Given the description of an element on the screen output the (x, y) to click on. 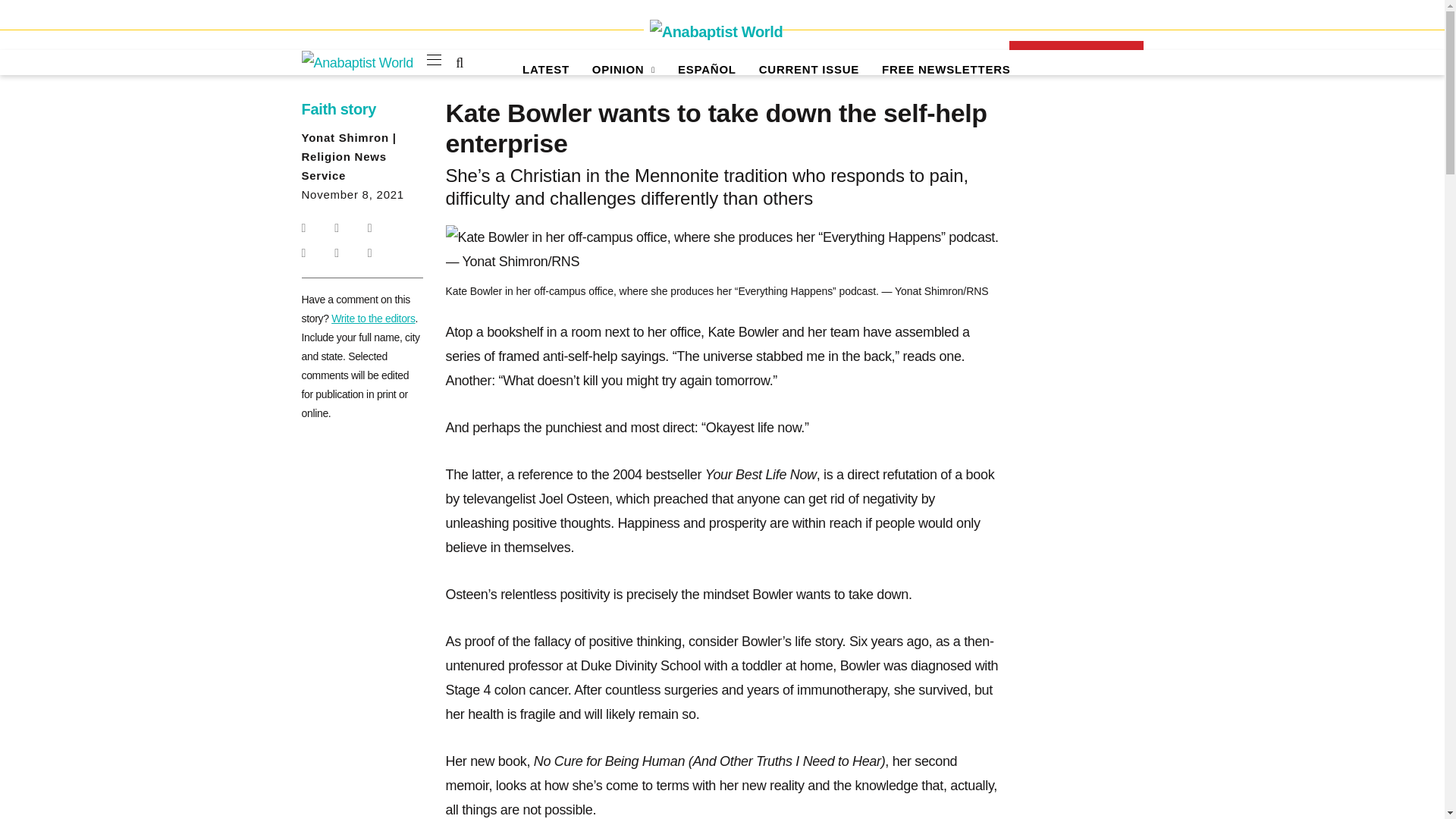
Current Issue (808, 69)
Anabaptist World (713, 31)
Posts by Yonat Shimron (344, 137)
Posts by Religion News Service (344, 165)
Latest (545, 69)
Opinion (623, 69)
Free Newsletters (946, 69)
